Given the description of an element on the screen output the (x, y) to click on. 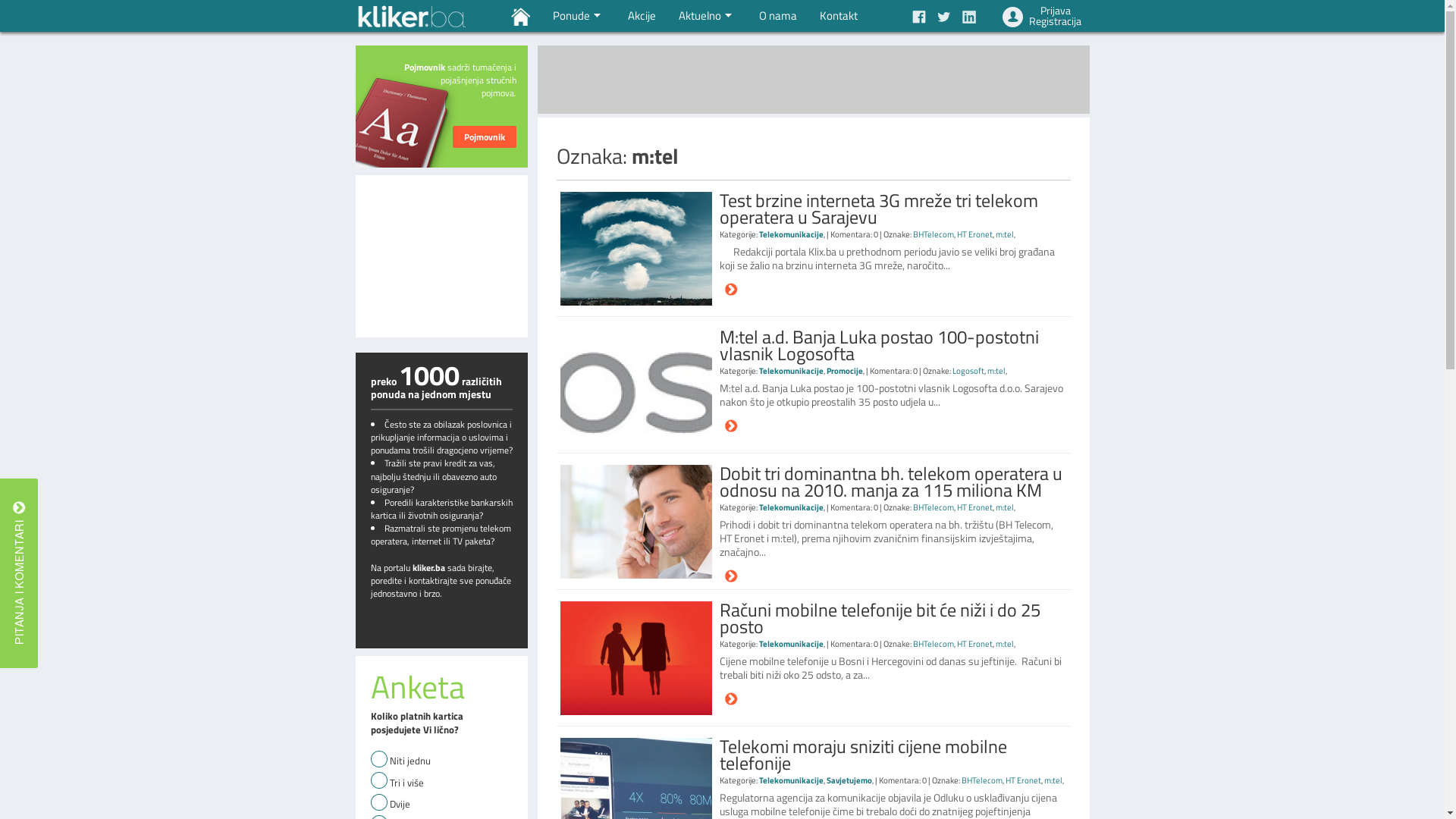
M:tel a.d. Banja Luka postao 100-postotni vlasnik Logosofta Element type: text (890, 344)
BHTelecom Element type: text (981, 780)
Telekomunikacije Element type: text (790, 643)
HT Eronet Element type: text (974, 507)
Telekomunikacije Element type: text (790, 370)
Promocije Element type: text (844, 370)
BHTelecom Element type: text (933, 507)
m:tel Element type: text (1003, 643)
Telekomunikacije Element type: text (790, 780)
m:tel Element type: text (1003, 234)
HT Eronet Element type: text (974, 234)
BHTelecom Element type: text (933, 234)
  Element type: text (18, 573)
Telekomunikacije Element type: text (790, 507)
Prijava
Registracija Element type: text (1042, 15)
HT Eronet Element type: text (1023, 780)
m:tel Element type: text (1003, 507)
m:tel Element type: text (996, 370)
BHTelecom Element type: text (933, 643)
Savjetujemo Element type: text (849, 780)
HT Eronet Element type: text (974, 643)
Pojmovnik Element type: text (483, 136)
Telekomunikacije Element type: text (790, 234)
Telekomi moraju sniziti cijene mobilne telefonije Element type: text (890, 754)
Logosoft Element type: text (968, 370)
m:tel Element type: text (1052, 780)
